Given the description of an element on the screen output the (x, y) to click on. 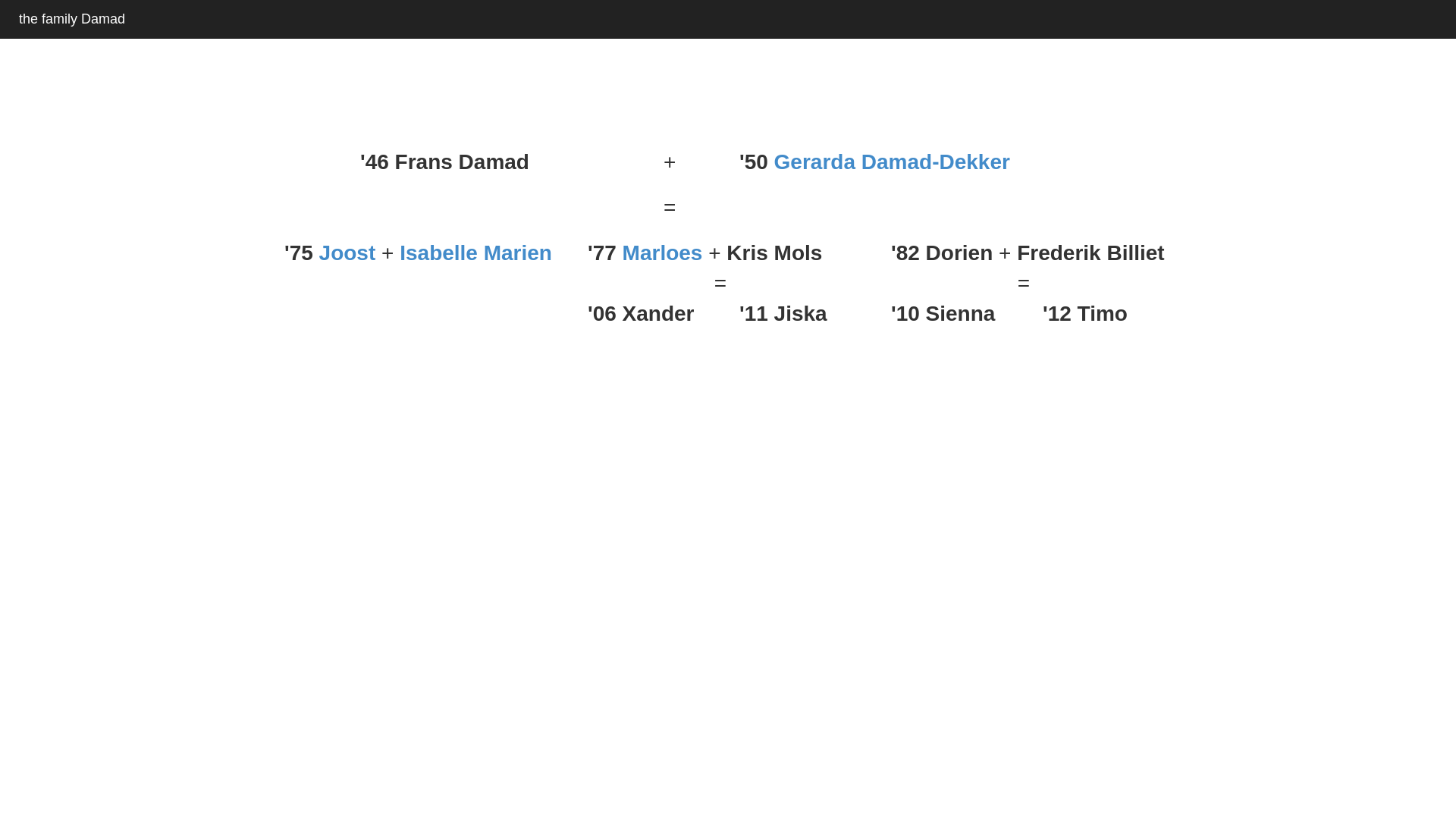
Isabelle Marien Element type: text (475, 252)
  the family Damad Element type: text (68, 18)
Marloes Element type: text (662, 252)
Joost Element type: text (347, 252)
Gerarda Damad-Dekker Element type: text (892, 161)
